Given the description of an element on the screen output the (x, y) to click on. 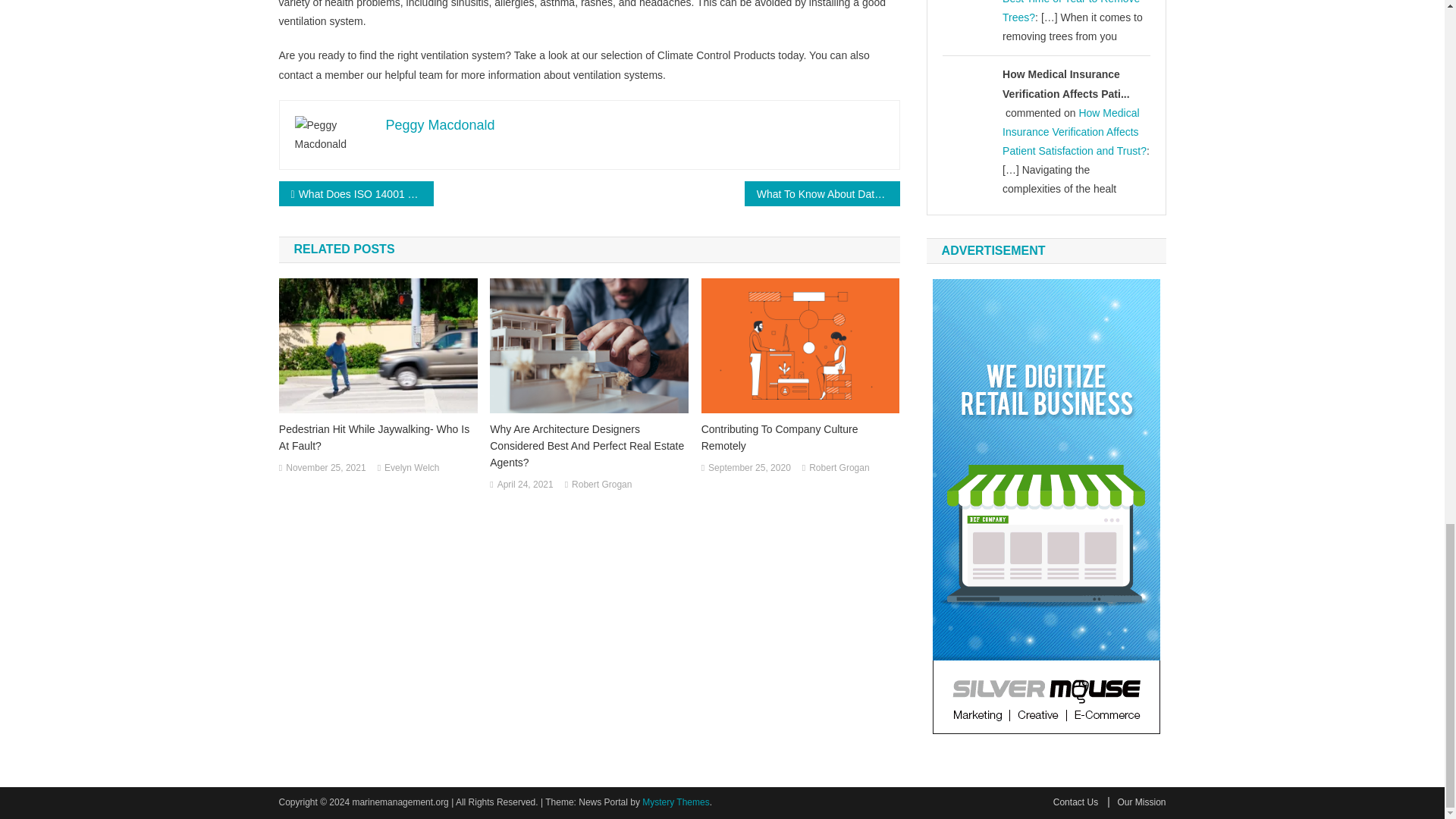
April 24, 2021 (525, 484)
Robert Grogan (839, 468)
September 25, 2020 (748, 468)
What Does ISO 14001 Mean? (356, 193)
Pedestrian Hit While Jaywalking- Who Is At Fault? (378, 437)
What To Know About Data-Driven Storytelling (821, 193)
Robert Grogan (601, 484)
Contributing To Company Culture Remotely (800, 437)
